Given the description of an element on the screen output the (x, y) to click on. 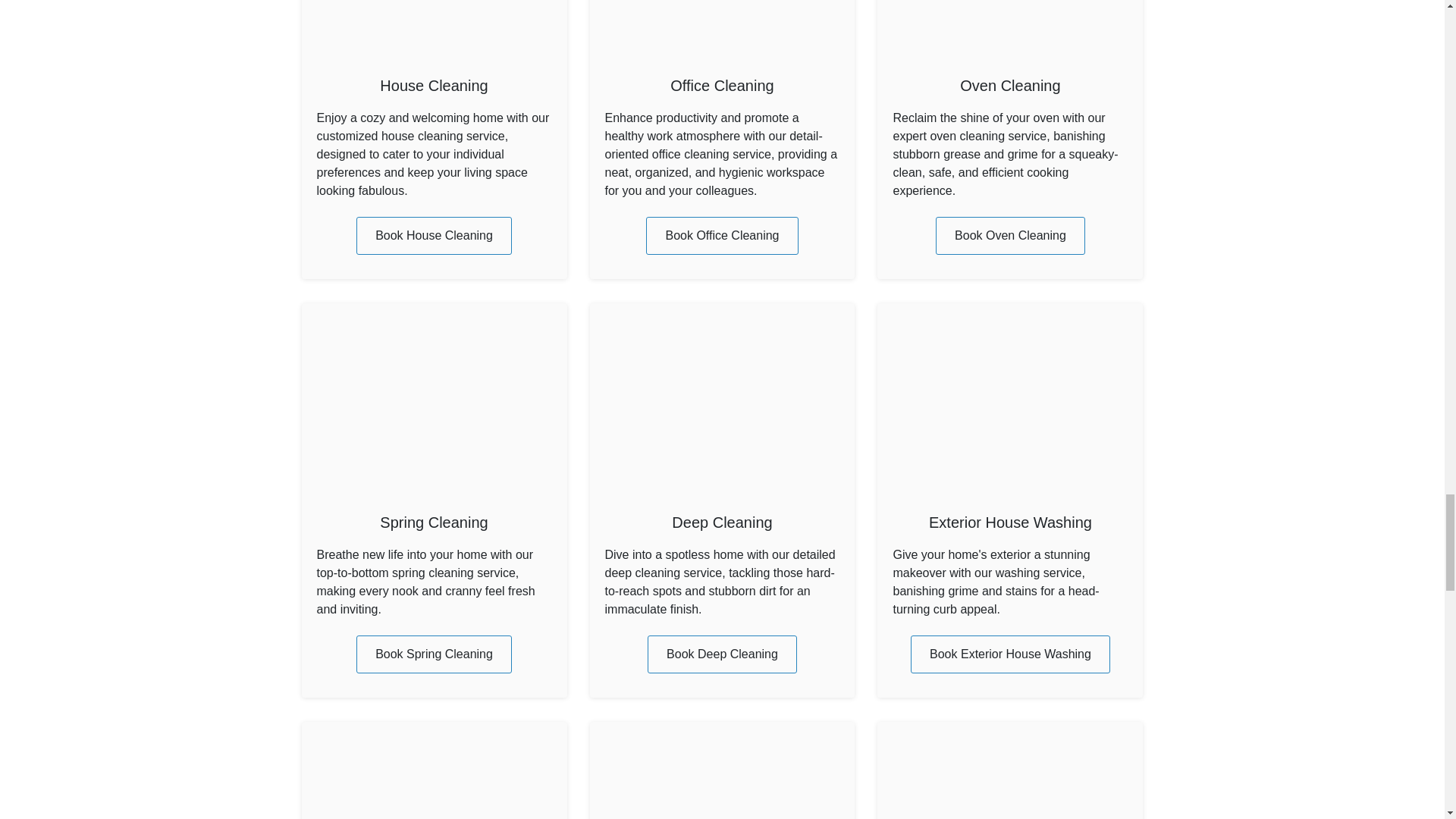
Book Office Cleaning (721, 235)
Office Cleaning (721, 85)
House Cleaning (433, 85)
Book House Cleaning (434, 235)
